Given the description of an element on the screen output the (x, y) to click on. 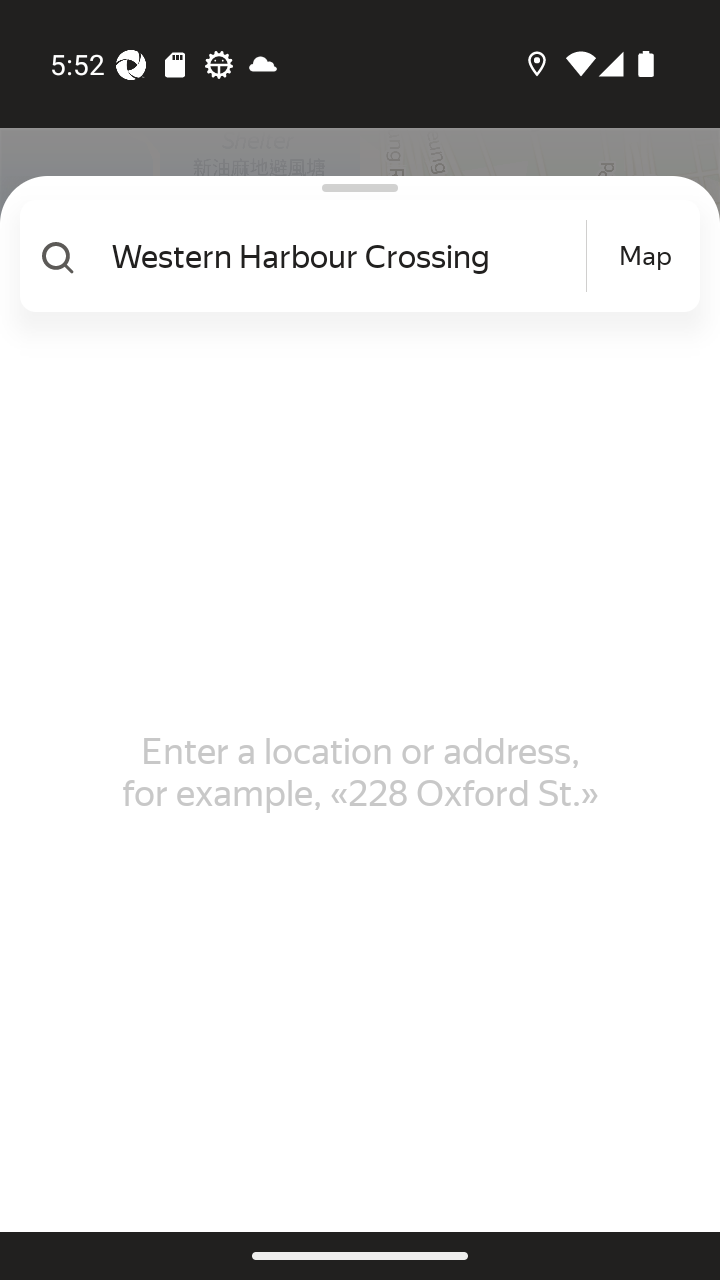
Western Harbour Crossing Map Map (352, 255)
Map (645, 255)
Western Harbour Crossing (346, 255)
